Given the description of an element on the screen output the (x, y) to click on. 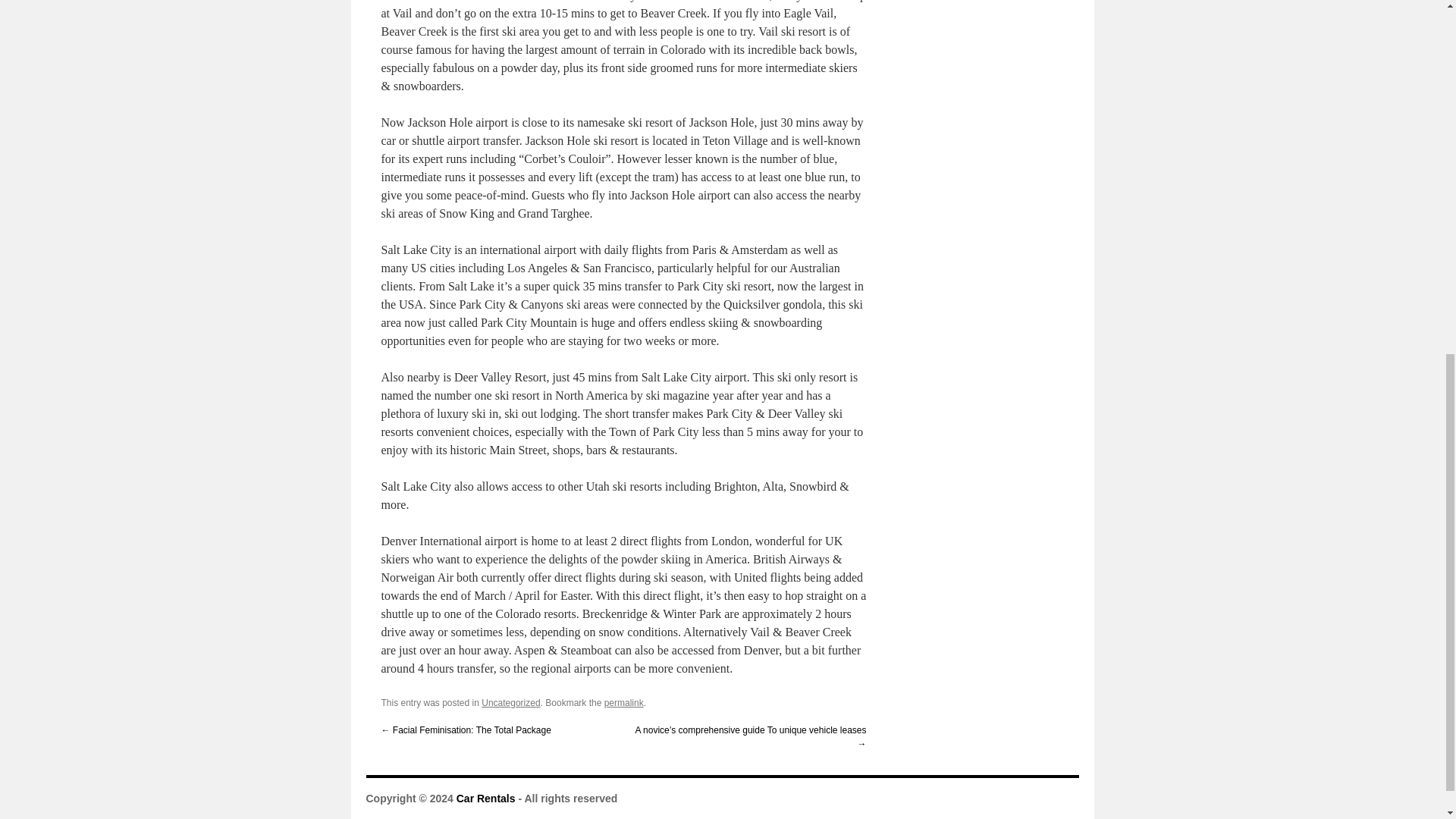
Uncategorized (510, 702)
permalink (623, 702)
Car Rentals (486, 798)
Car Rentals (486, 798)
